Given the description of an element on the screen output the (x, y) to click on. 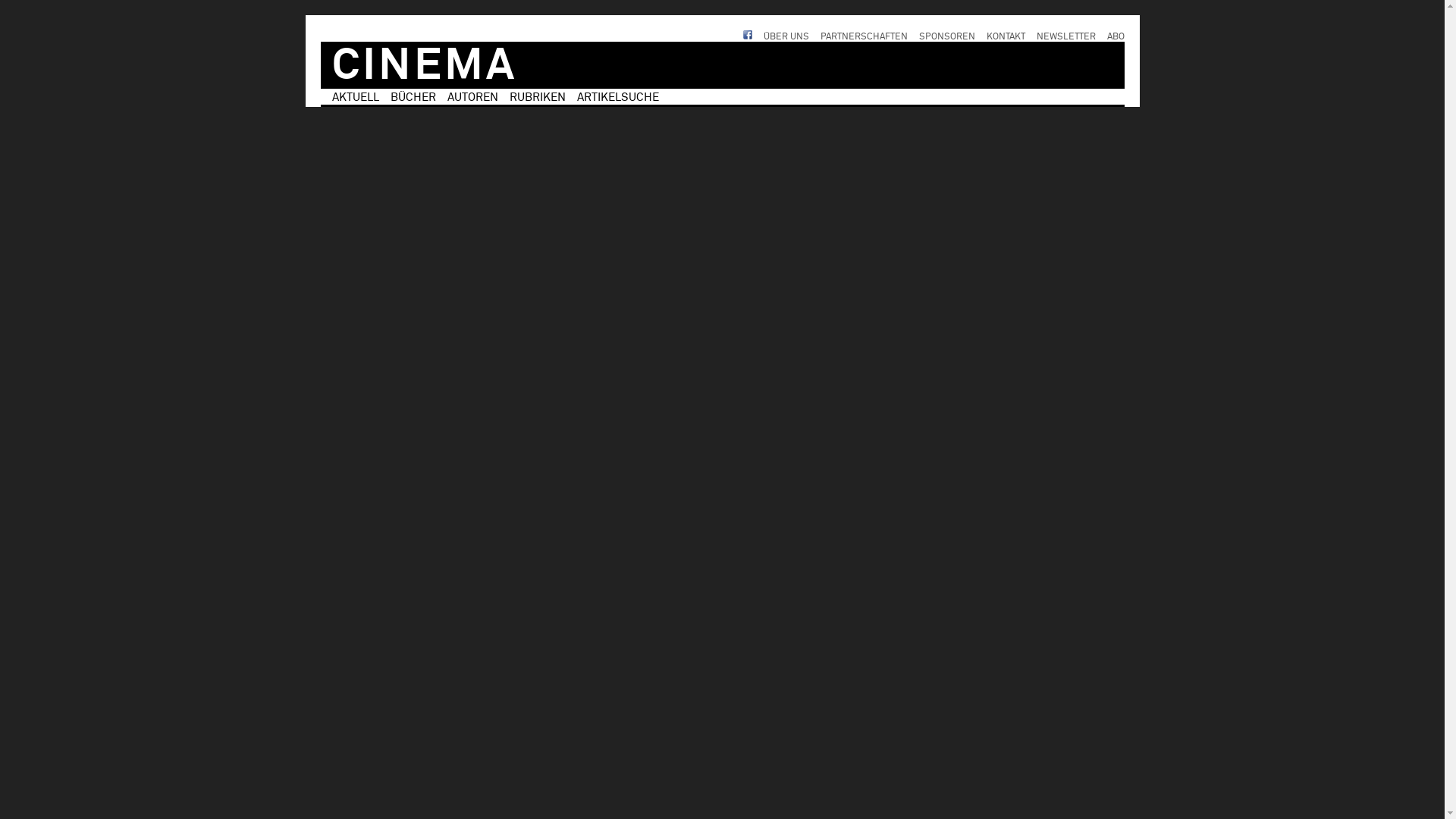
PARTNERSCHAFTEN Element type: text (863, 36)
AUTOREN Element type: text (472, 97)
NEWSLETTER Element type: text (1065, 36)
ARTIKELSUCHE Element type: text (617, 97)
RUBRIKEN Element type: text (537, 97)
AKTUELL Element type: text (355, 97)
SPONSOREN Element type: text (947, 36)
ABO Element type: text (1115, 36)
KONTAKT Element type: text (1004, 36)
